Given the description of an element on the screen output the (x, y) to click on. 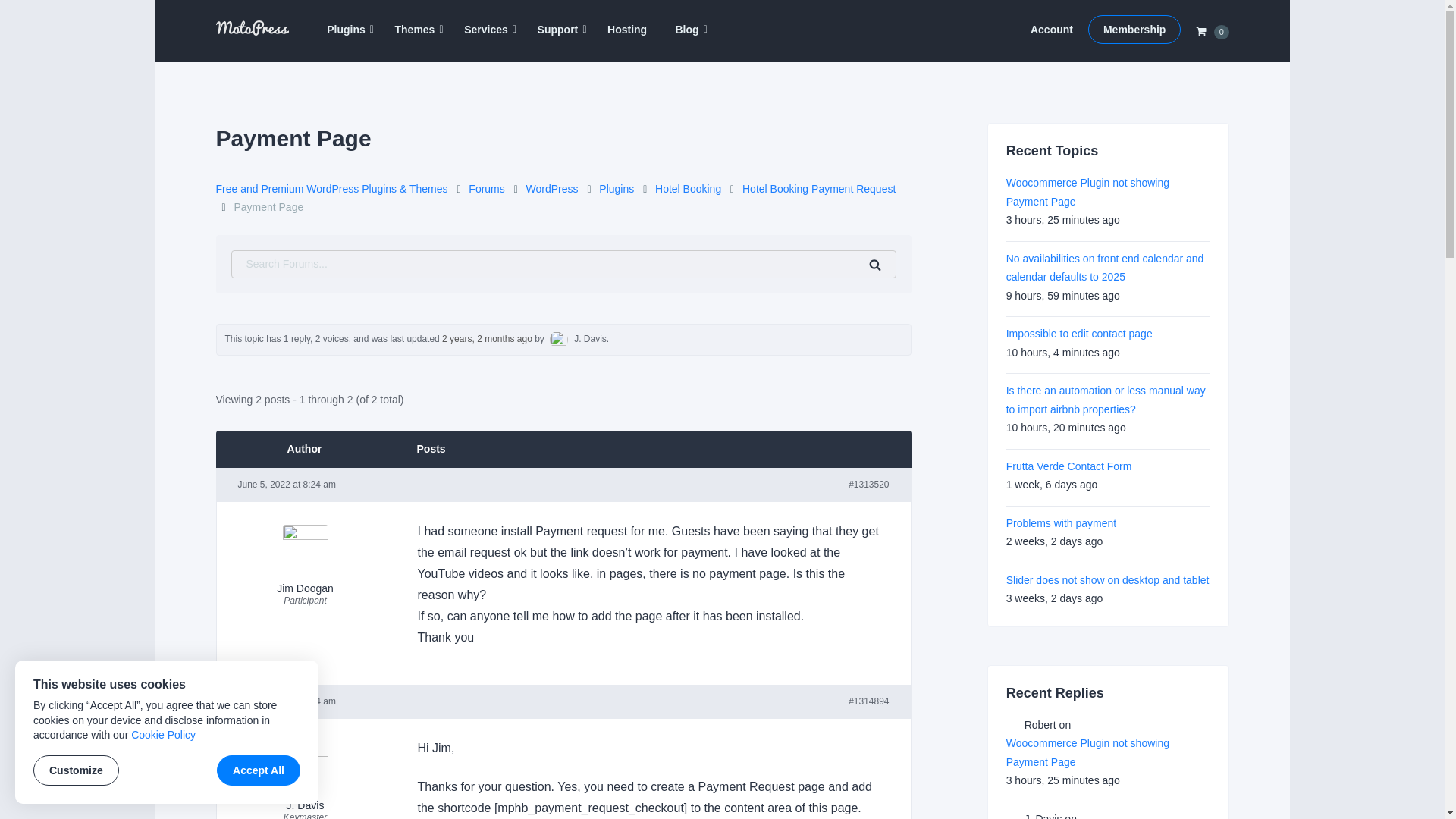
Plugins (346, 29)
WordPress Themes (414, 29)
WordPress Plugins (346, 29)
Themes (414, 29)
Reply To: Payment Page (487, 338)
MotoPress (244, 51)
